Given the description of an element on the screen output the (x, y) to click on. 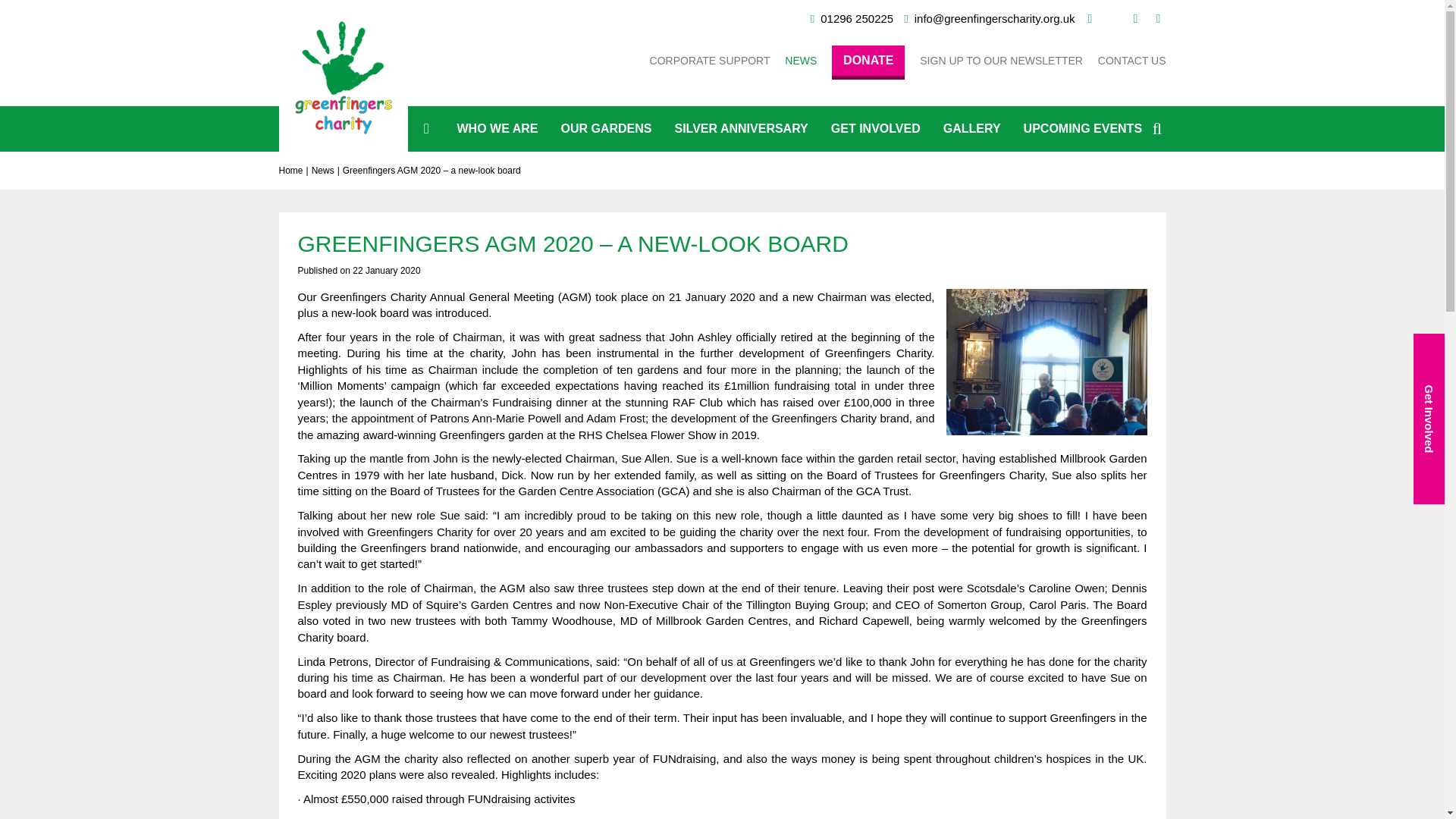
Greenfingers Gardens (605, 128)
Donate (867, 62)
SIGN UP TO OUR NEWSLETTER (1001, 60)
WHO WE ARE (497, 128)
GALLERY (971, 128)
GET INVOLVED (875, 128)
Home (290, 170)
News (322, 170)
Who we are (497, 128)
